Given the description of an element on the screen output the (x, y) to click on. 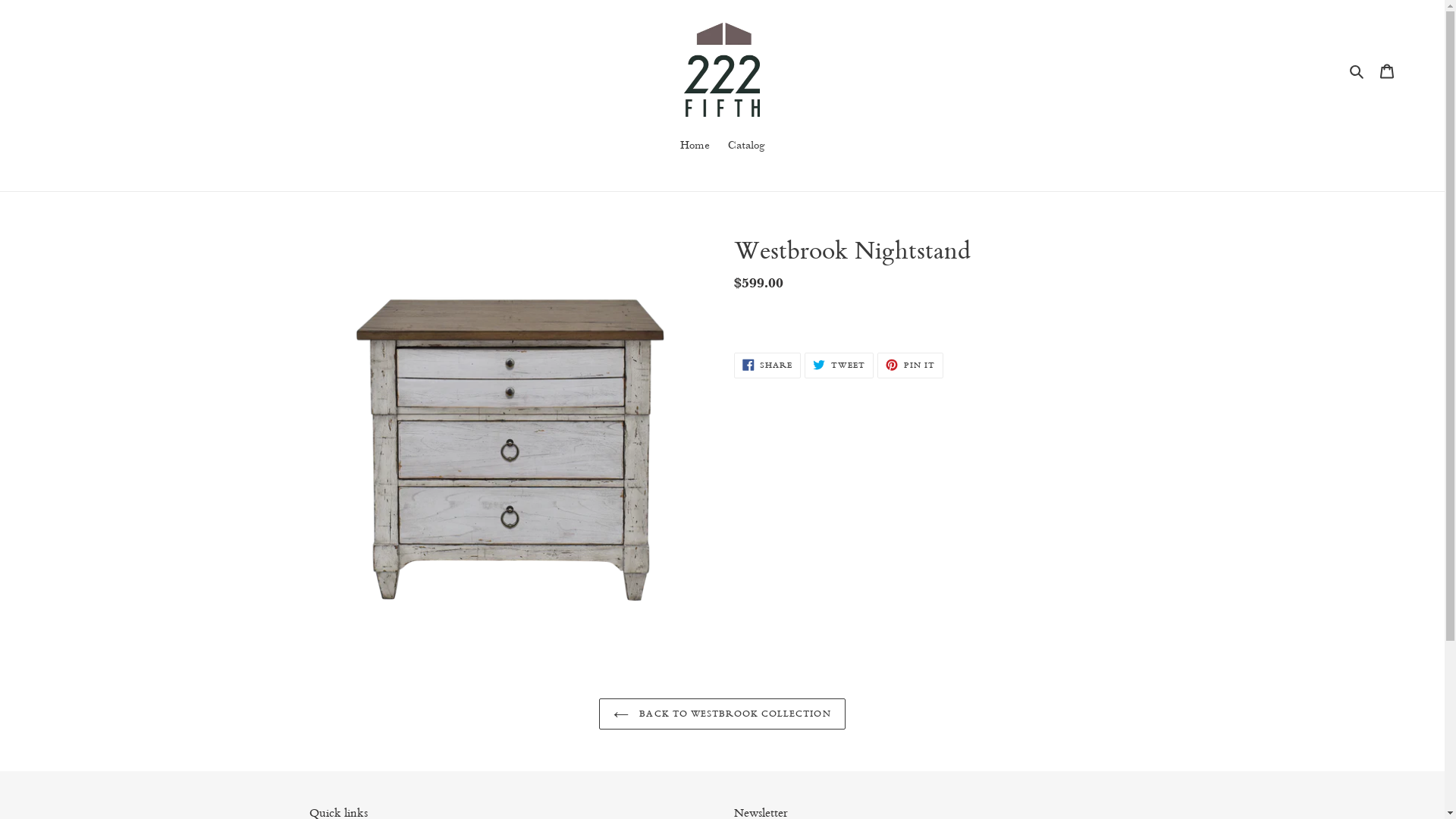
Search Element type: text (1357, 69)
Catalog Element type: text (746, 146)
Cart Element type: text (1386, 69)
Home Element type: text (693, 146)
PIN IT
PIN ON PINTEREST Element type: text (910, 364)
BACK TO WESTBROOK COLLECTION Element type: text (721, 714)
TWEET
TWEET ON TWITTER Element type: text (838, 364)
SHARE
SHARE ON FACEBOOK Element type: text (767, 364)
